Given the description of an element on the screen output the (x, y) to click on. 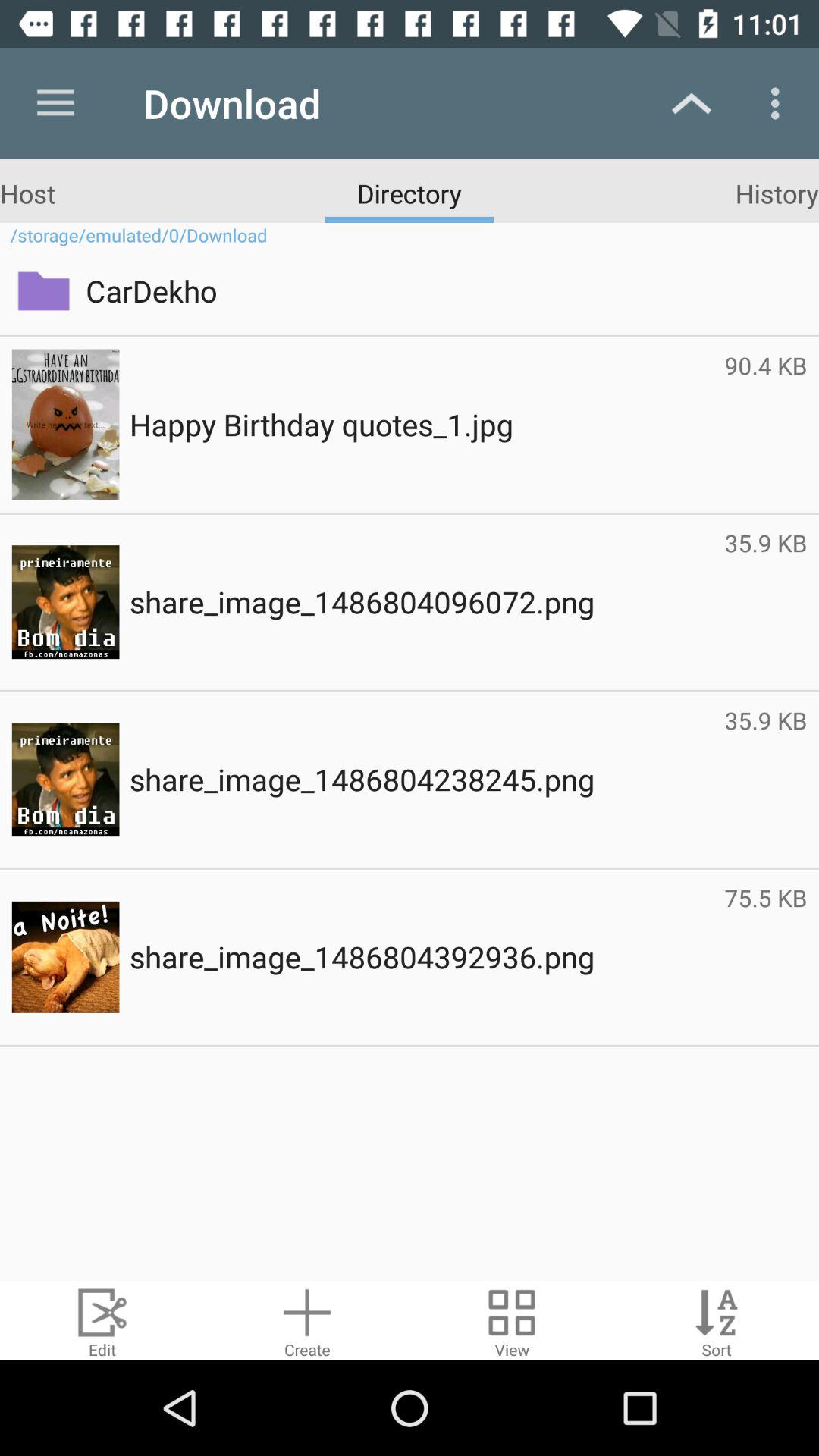
view photo album (511, 1320)
